Given the description of an element on the screen output the (x, y) to click on. 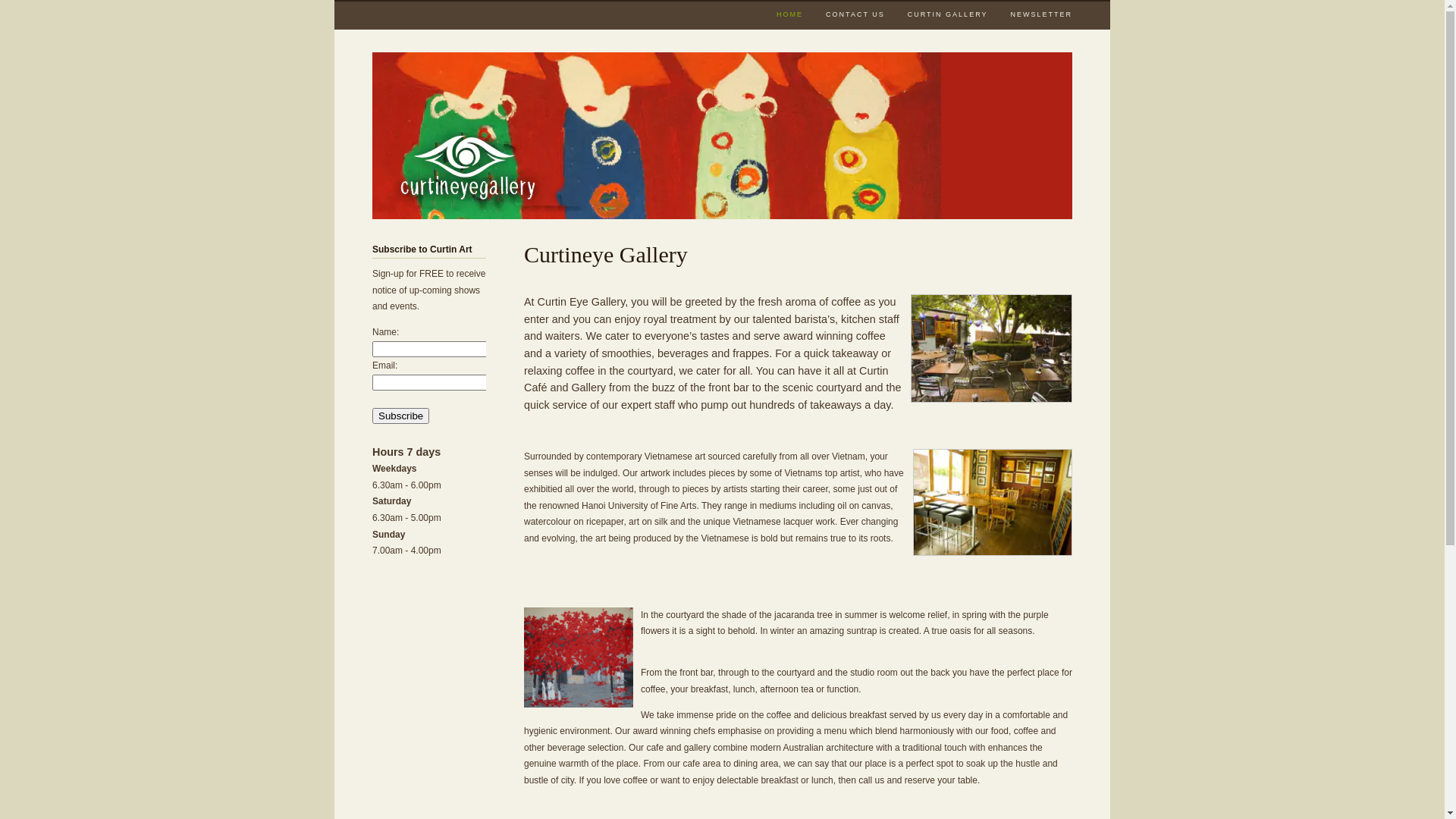
ENVY Element type: hover (656, 135)
HOME Element type: text (789, 14)
NEWSLETTER Element type: text (1041, 13)
CURTIN GALLERY Element type: text (947, 13)
CONTACT US Element type: text (854, 13)
Subscribe Element type: text (400, 415)
